Given the description of an element on the screen output the (x, y) to click on. 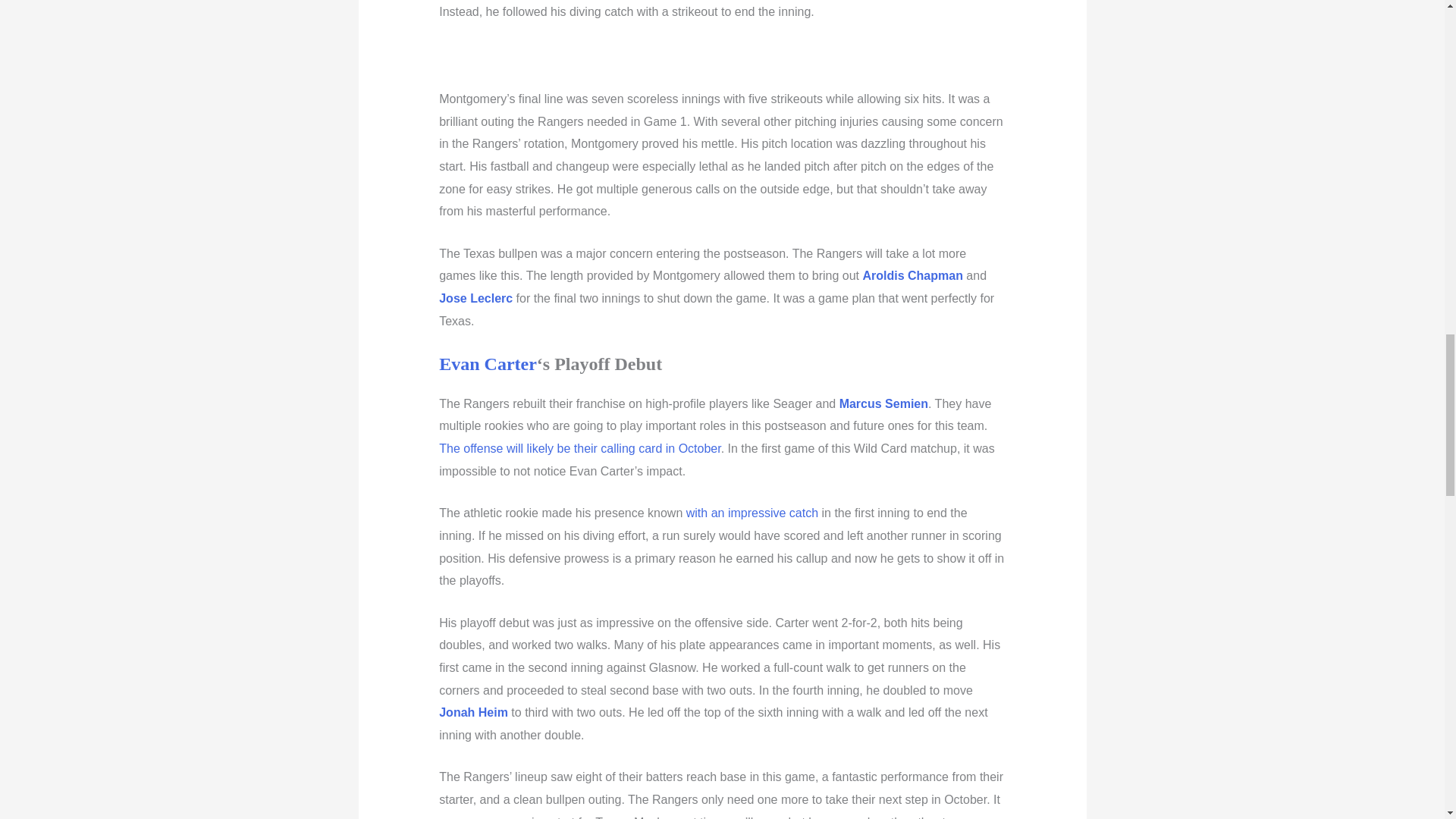
The offense will likely be their calling card in October (579, 448)
Jose Leclerc (475, 297)
with an impressive catch (751, 512)
Jonah Heim (473, 712)
Aroldis Chapman (911, 275)
Marcus Semien (884, 403)
Evan Carter (488, 363)
